Given the description of an element on the screen output the (x, y) to click on. 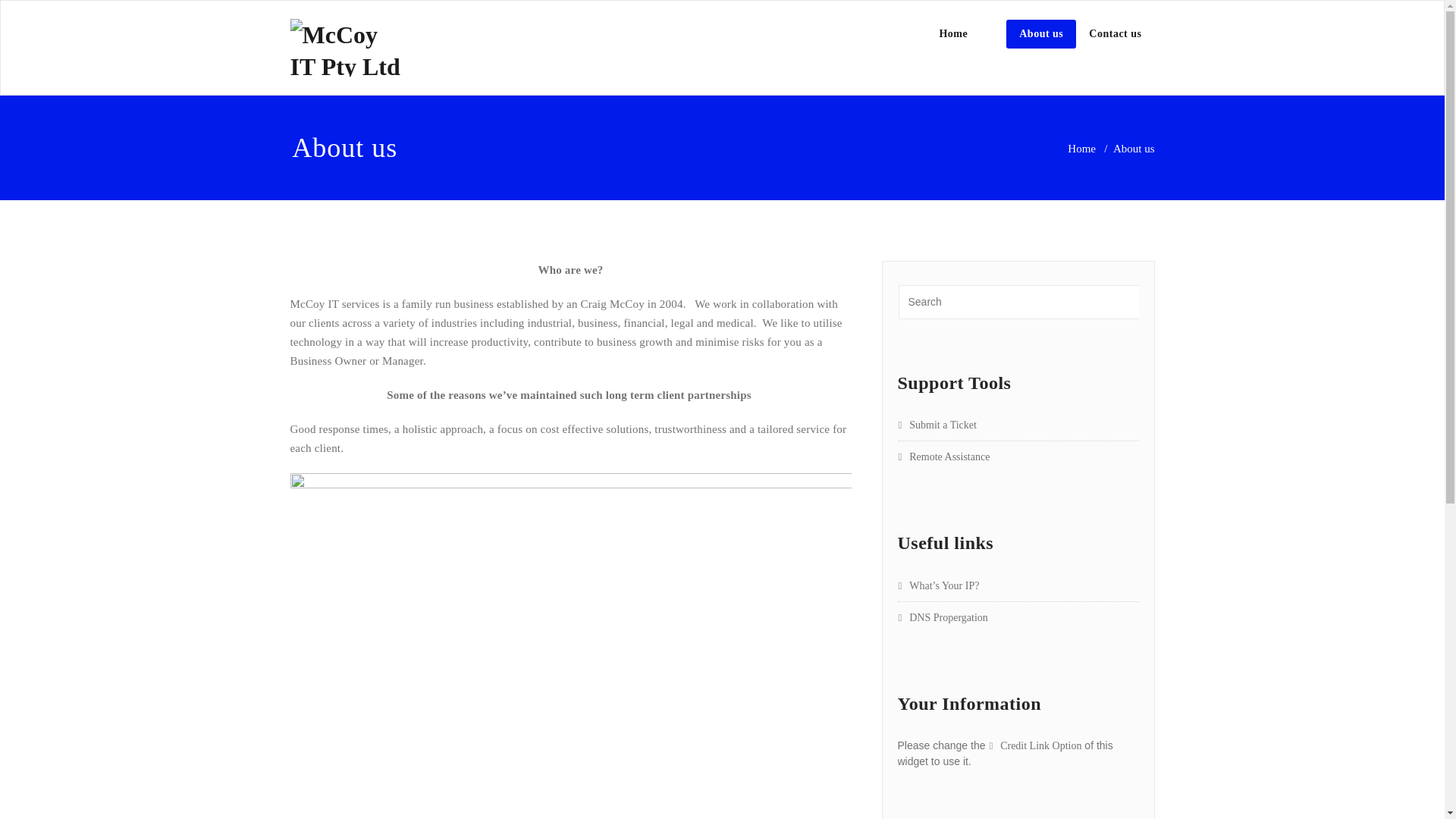
Submit a Ticket Element type: text (936, 424)
Credit Link Option Element type: text (1034, 745)
DNS Propergation Element type: text (942, 617)
About us Element type: text (1041, 33)
Home Element type: text (1081, 148)
Contact us Element type: text (1115, 33)
Home Element type: text (952, 33)
McCoy IT Element type: text (497, 38)
Remote Assistance Element type: text (943, 456)
